Given the description of an element on the screen output the (x, y) to click on. 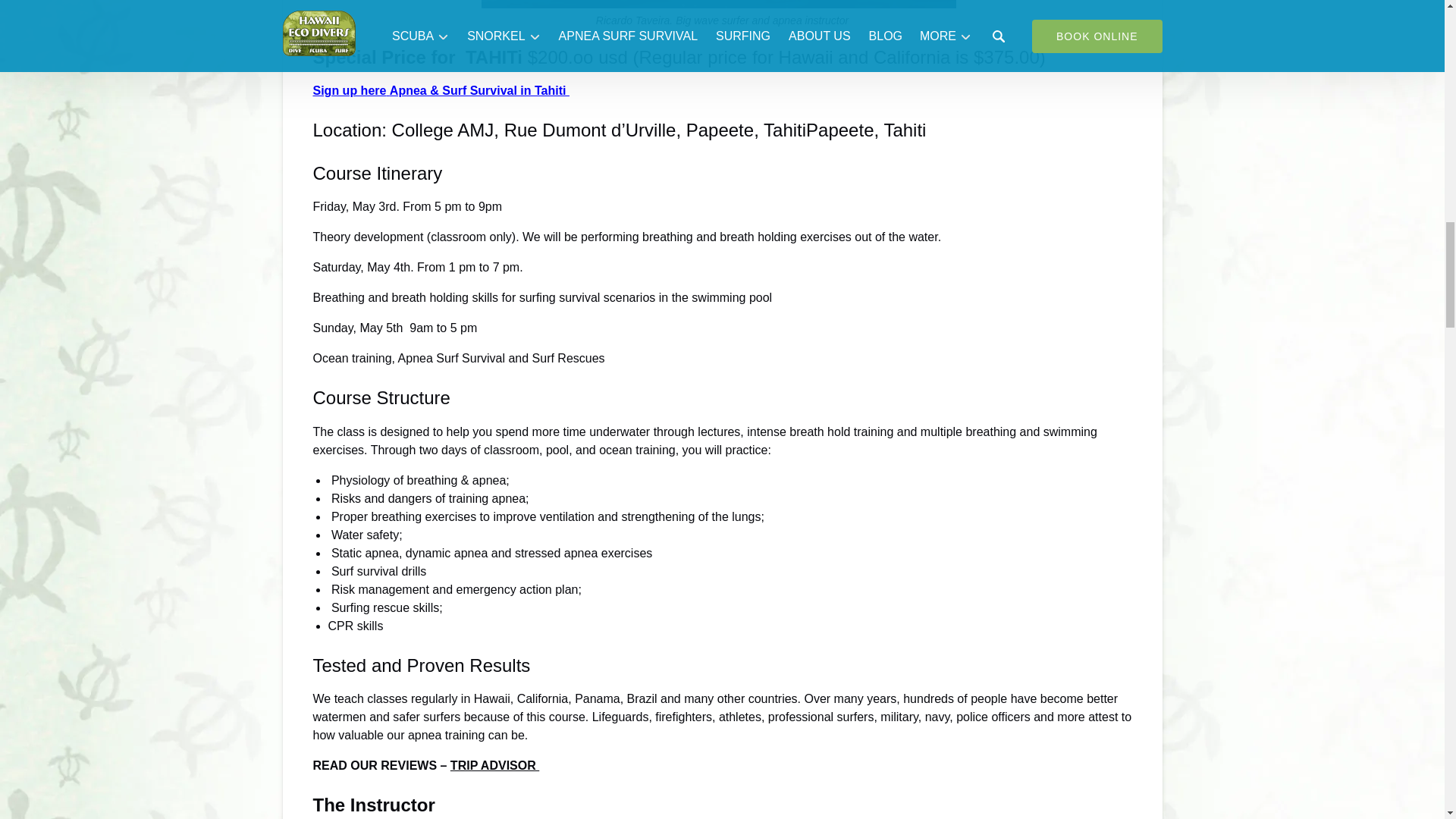
TRIP ADVISOR  (493, 765)
